Given the description of an element on the screen output the (x, y) to click on. 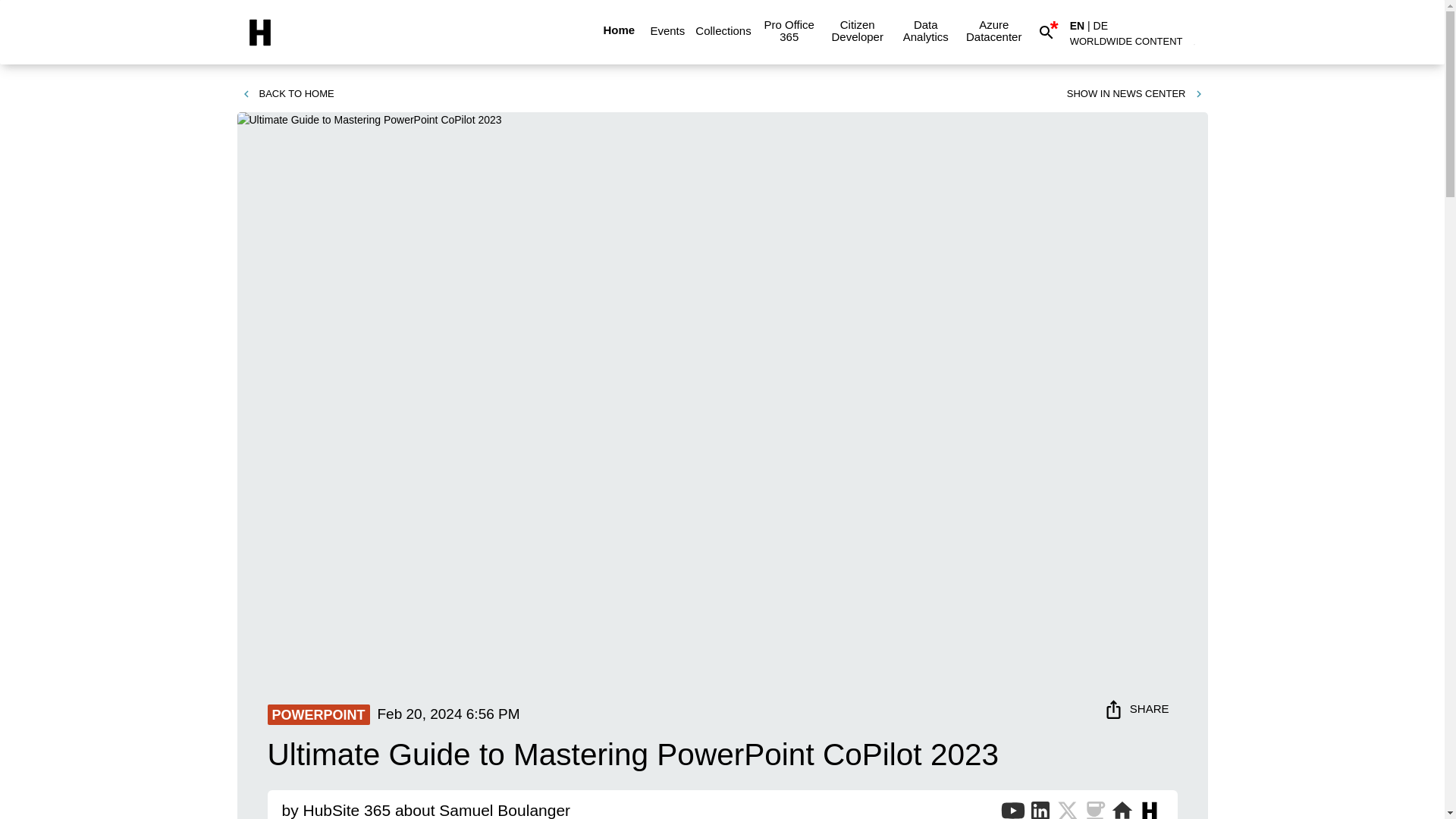
SHOW IN NEWS CENTER (1135, 94)
Data Analytics (925, 31)
Home (618, 30)
Citizen Developer (857, 31)
Azure Datacenter (993, 31)
Pro Office 365 (789, 31)
BACK TO HOME (286, 94)
Collections (722, 31)
SHARE (1137, 708)
Events (667, 31)
